Given the description of an element on the screen output the (x, y) to click on. 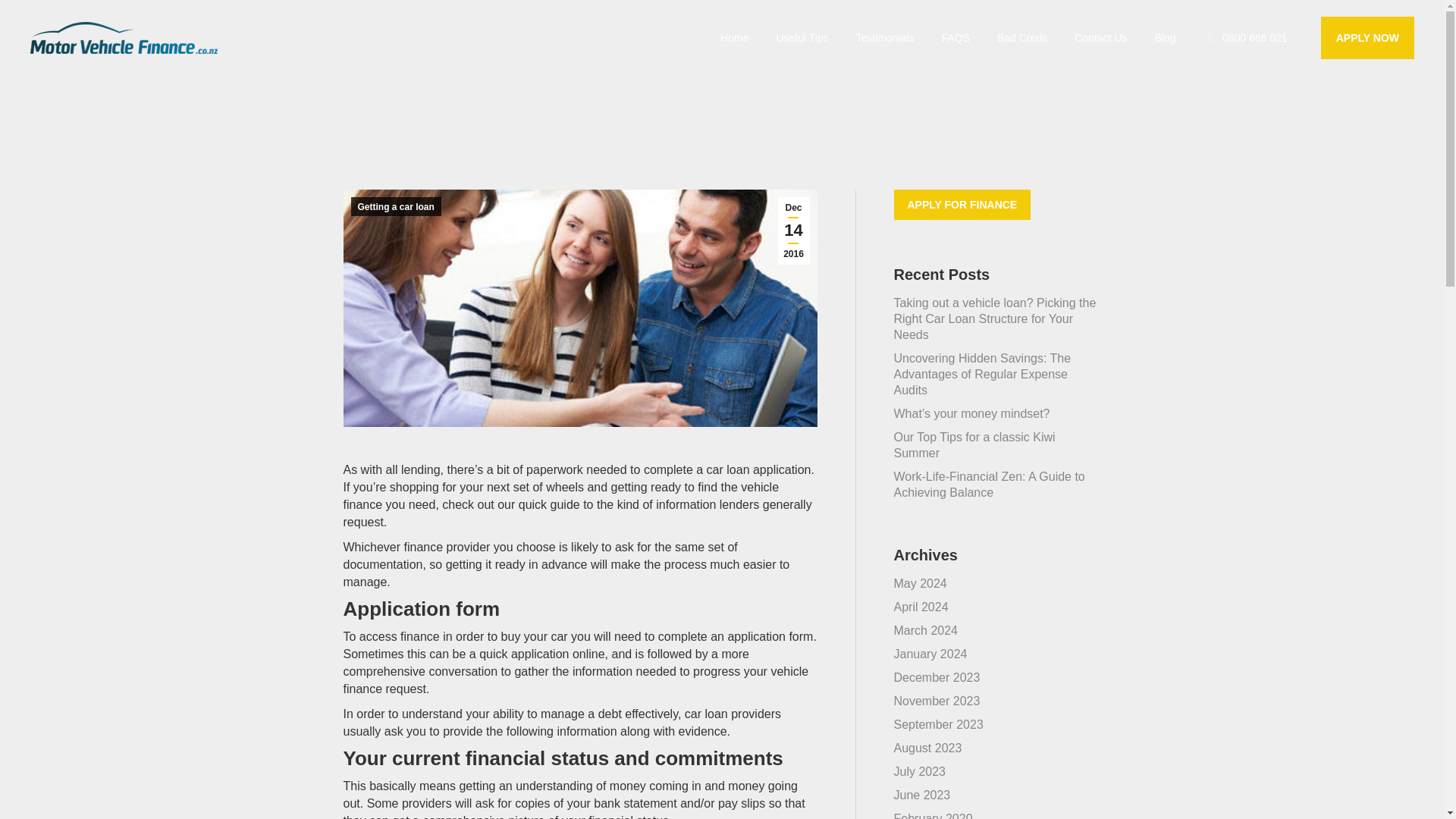
Home (734, 37)
Bad Credit (1021, 37)
Blog (1164, 37)
setting-up-a-car-loan (579, 307)
0800 666 021 (1244, 37)
APPLY NOW (1366, 37)
Contact Us (1100, 37)
FAQS (955, 37)
Useful Tips (802, 37)
Testimonials (885, 37)
Getting a car loan (395, 206)
